Given the description of an element on the screen output the (x, y) to click on. 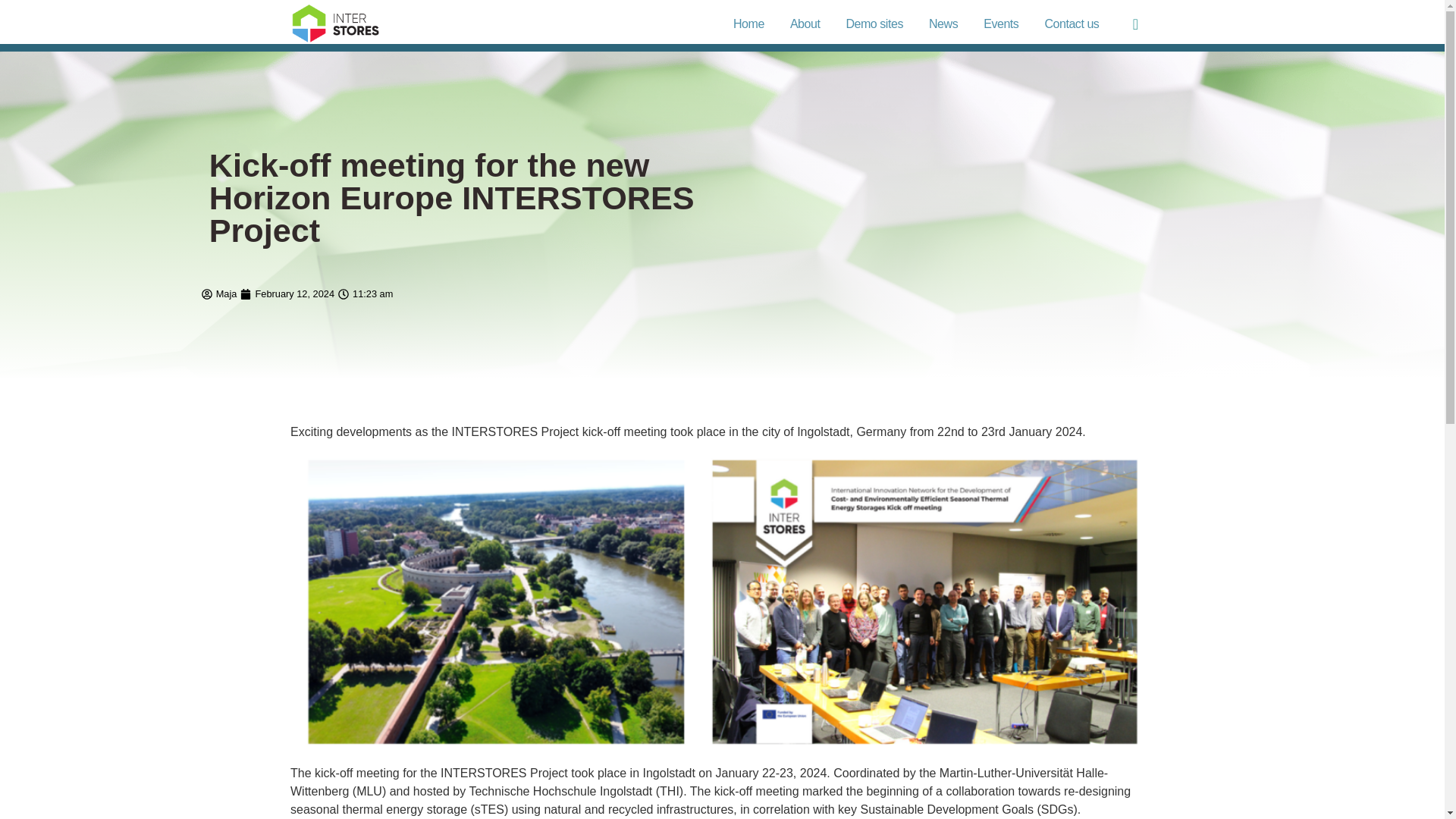
Events (1000, 24)
News (943, 24)
Home (748, 24)
February 12, 2024 (287, 293)
Demo sites (874, 24)
Maja (219, 293)
Contact us (1071, 24)
About (805, 24)
